Given the description of an element on the screen output the (x, y) to click on. 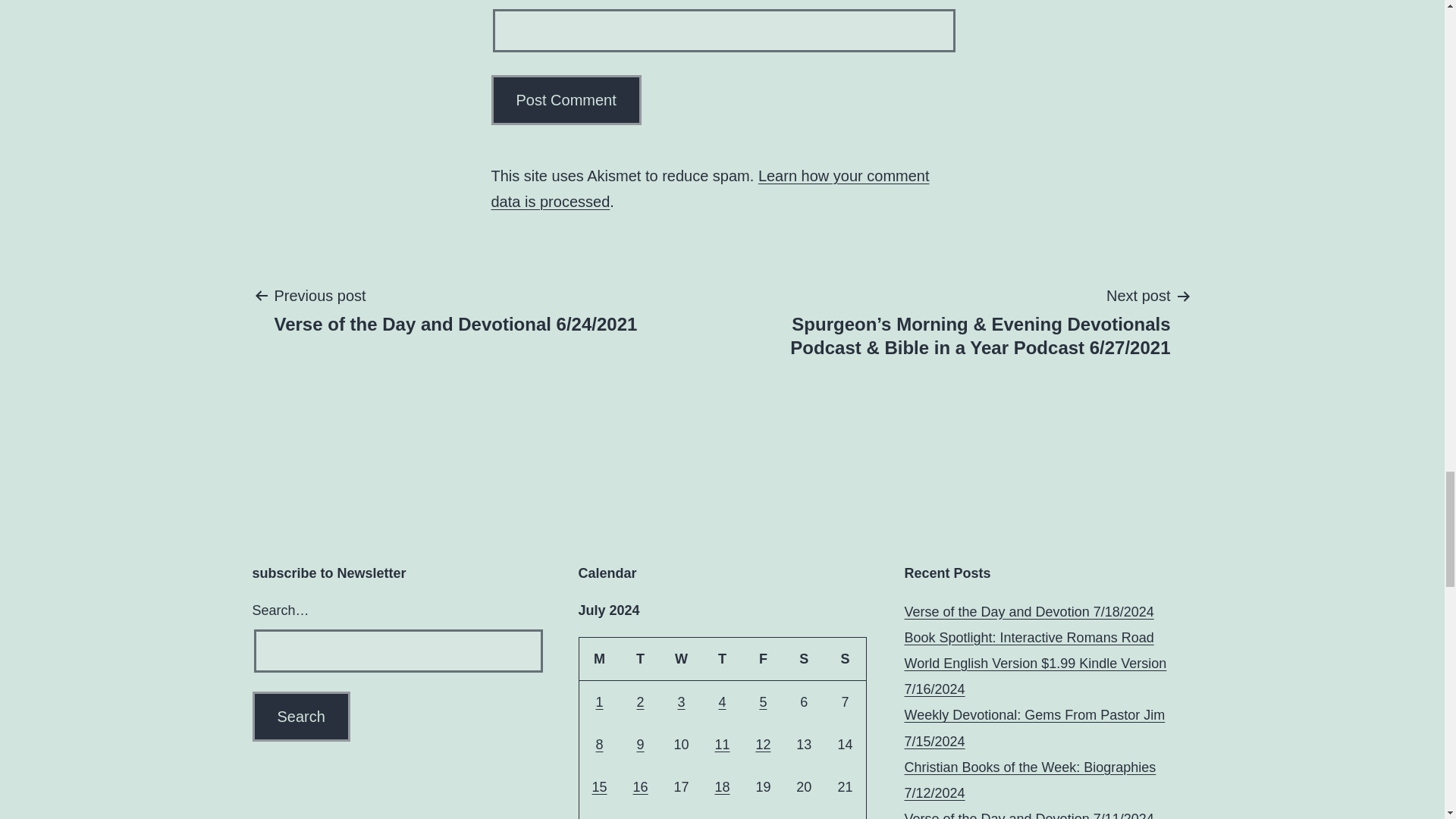
Learn how your comment data is processed (711, 188)
Friday (762, 659)
Saturday (803, 659)
Thursday (721, 659)
Sunday (845, 659)
1 (599, 702)
Search (300, 716)
Tuesday (640, 659)
Wednesday (681, 659)
Post Comment (567, 100)
Monday (599, 659)
Search (300, 716)
2 (641, 702)
Post Comment (567, 100)
Search (300, 716)
